Given the description of an element on the screen output the (x, y) to click on. 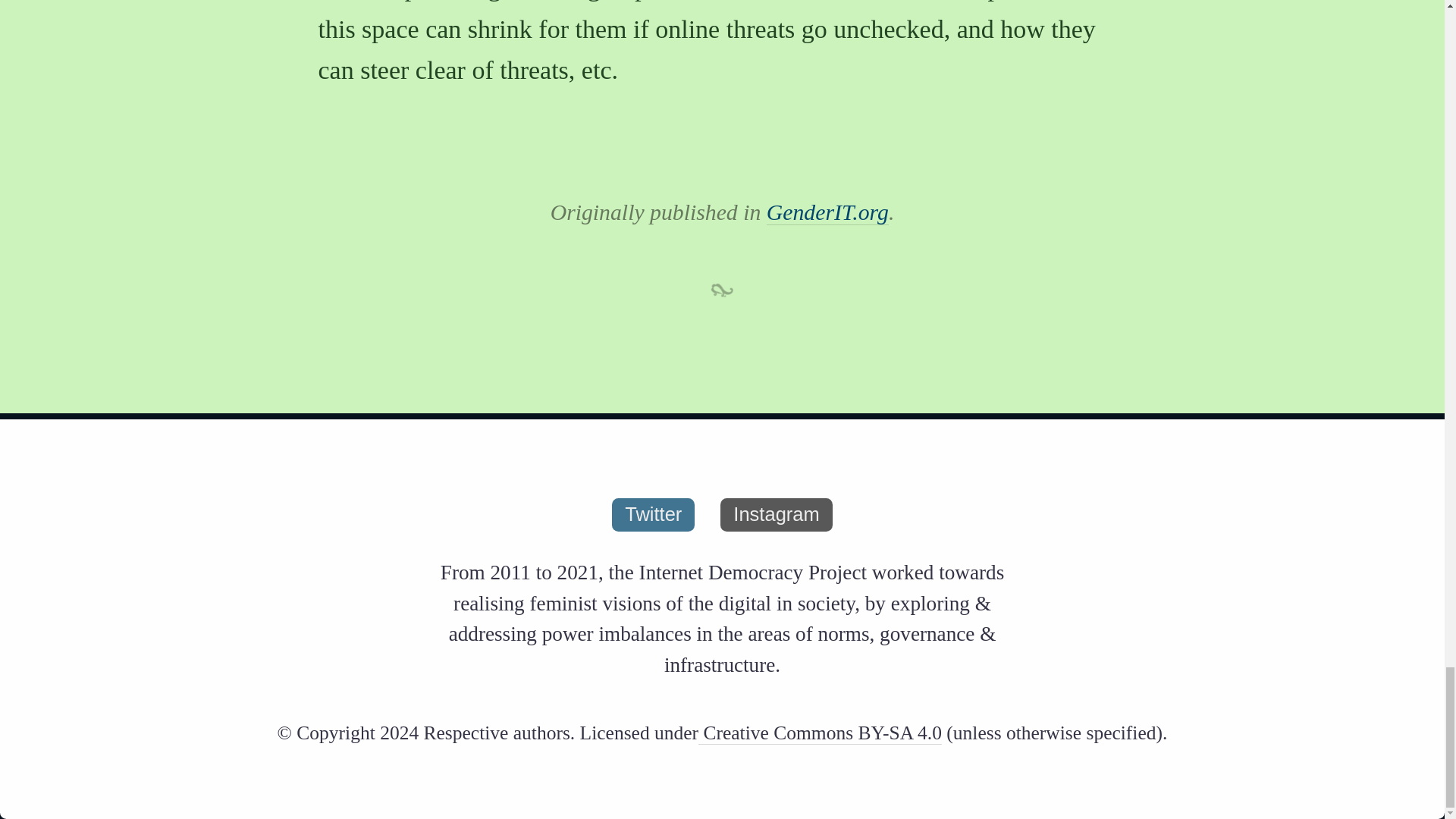
Creative Commons BY-SA 4.0 (820, 732)
Instagram (775, 514)
Twitter (652, 514)
GenderIT.org (827, 212)
